Given the description of an element on the screen output the (x, y) to click on. 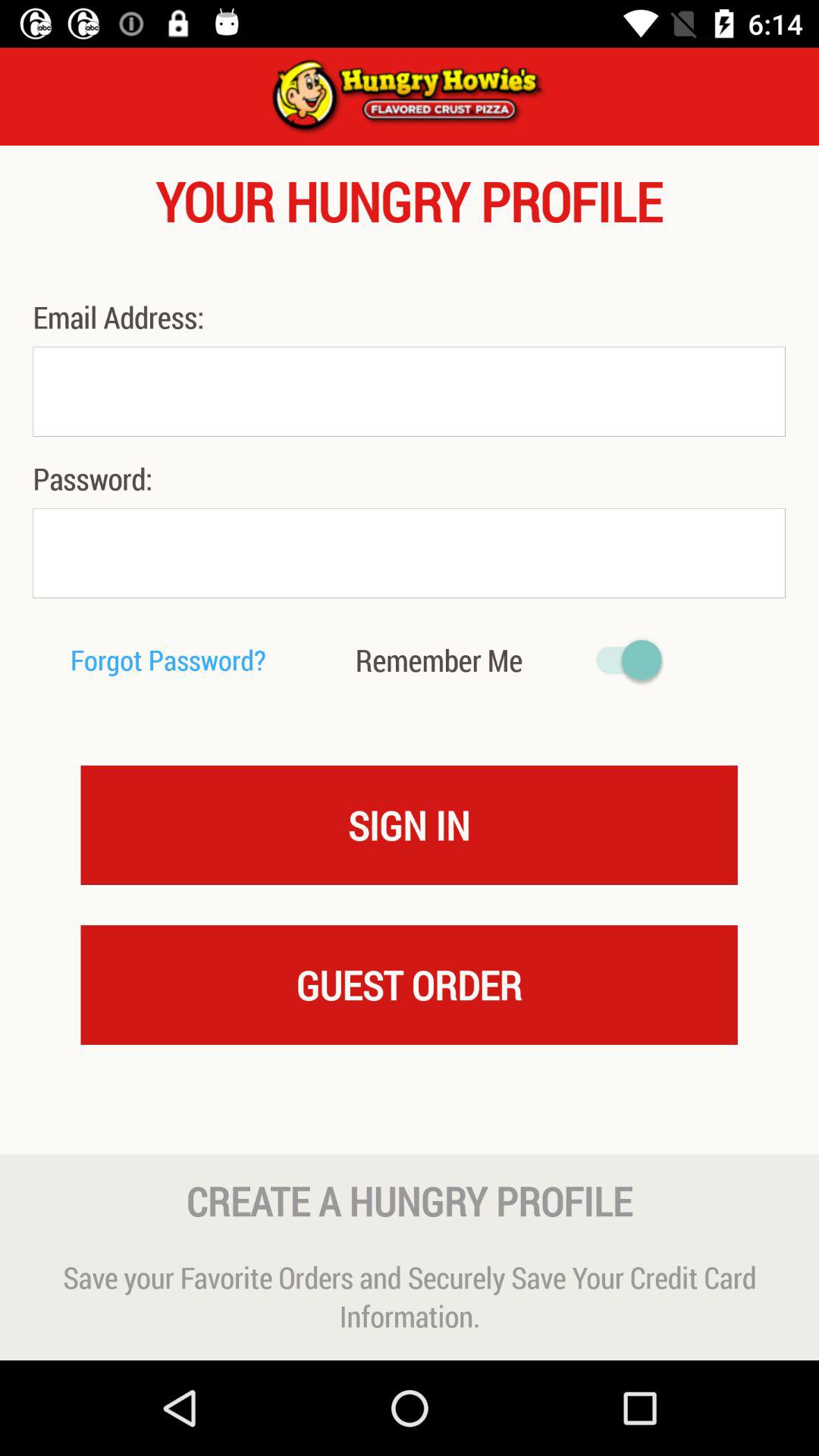
which text area contains password (408, 553)
